Given the description of an element on the screen output the (x, y) to click on. 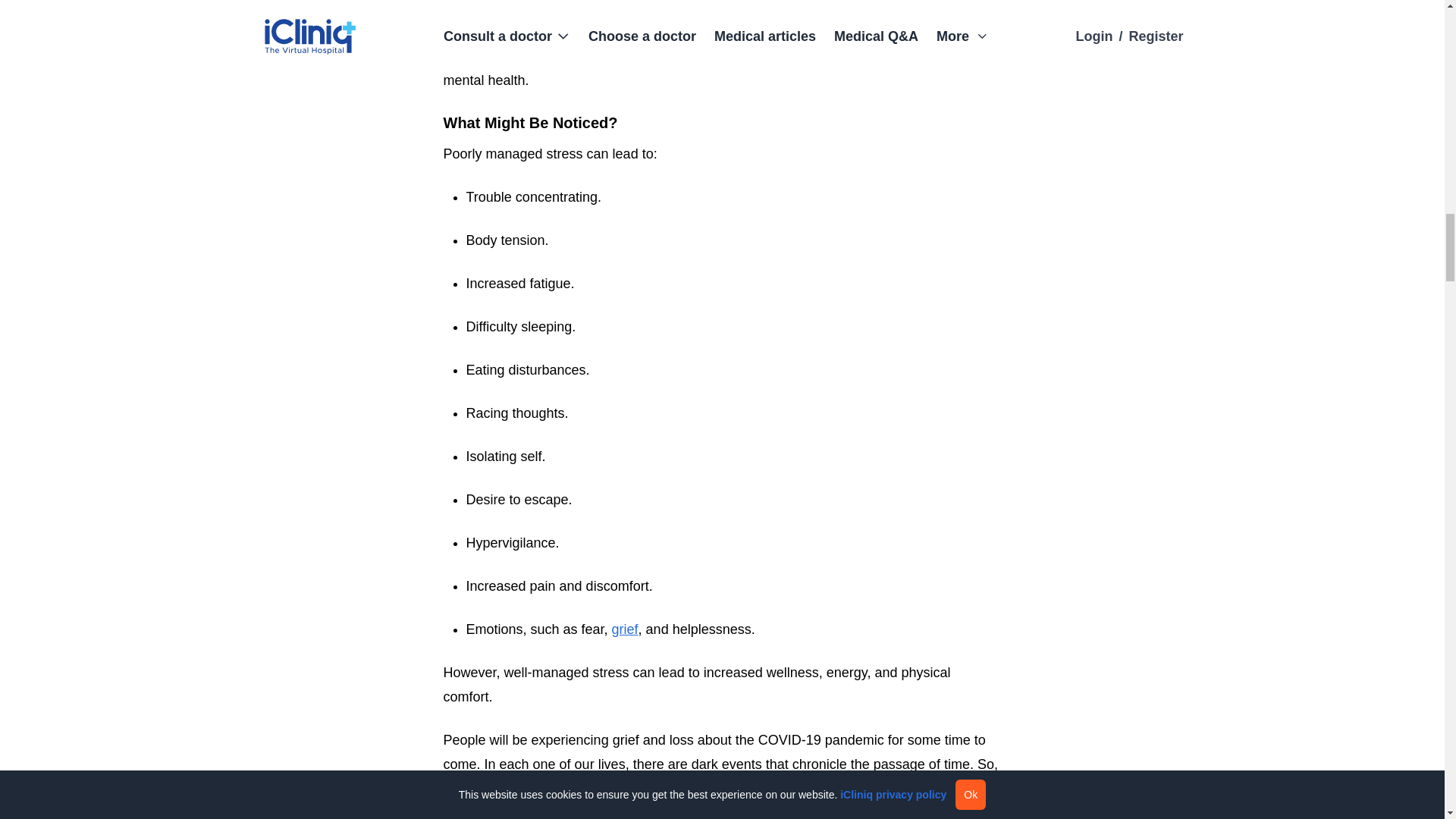
What Might Be Noticed? (721, 122)
